Given the description of an element on the screen output the (x, y) to click on. 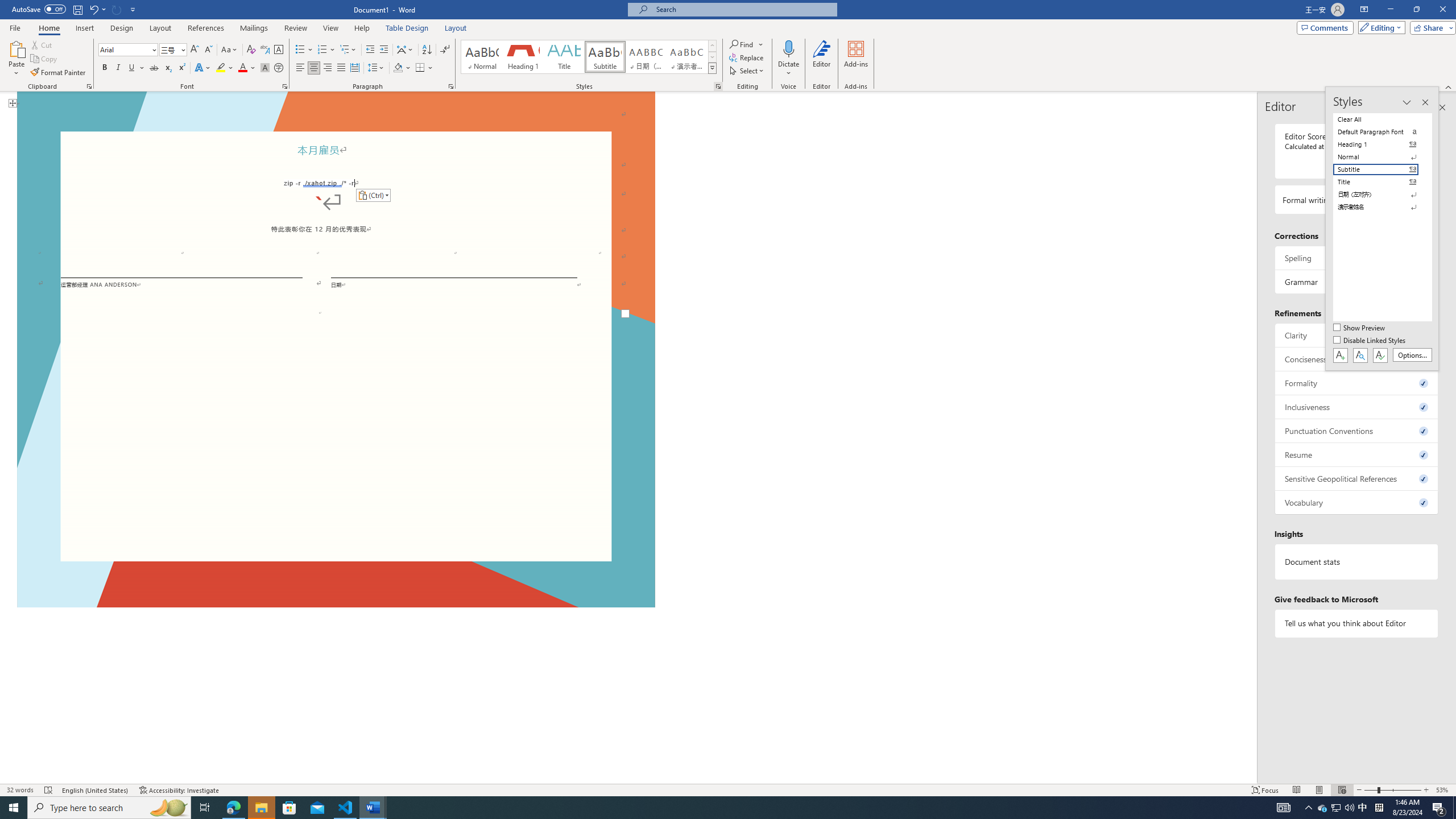
Resume, 0 issues. Press space or enter to review items. (1356, 454)
Disable Linked Styles (1370, 340)
